Given the description of an element on the screen output the (x, y) to click on. 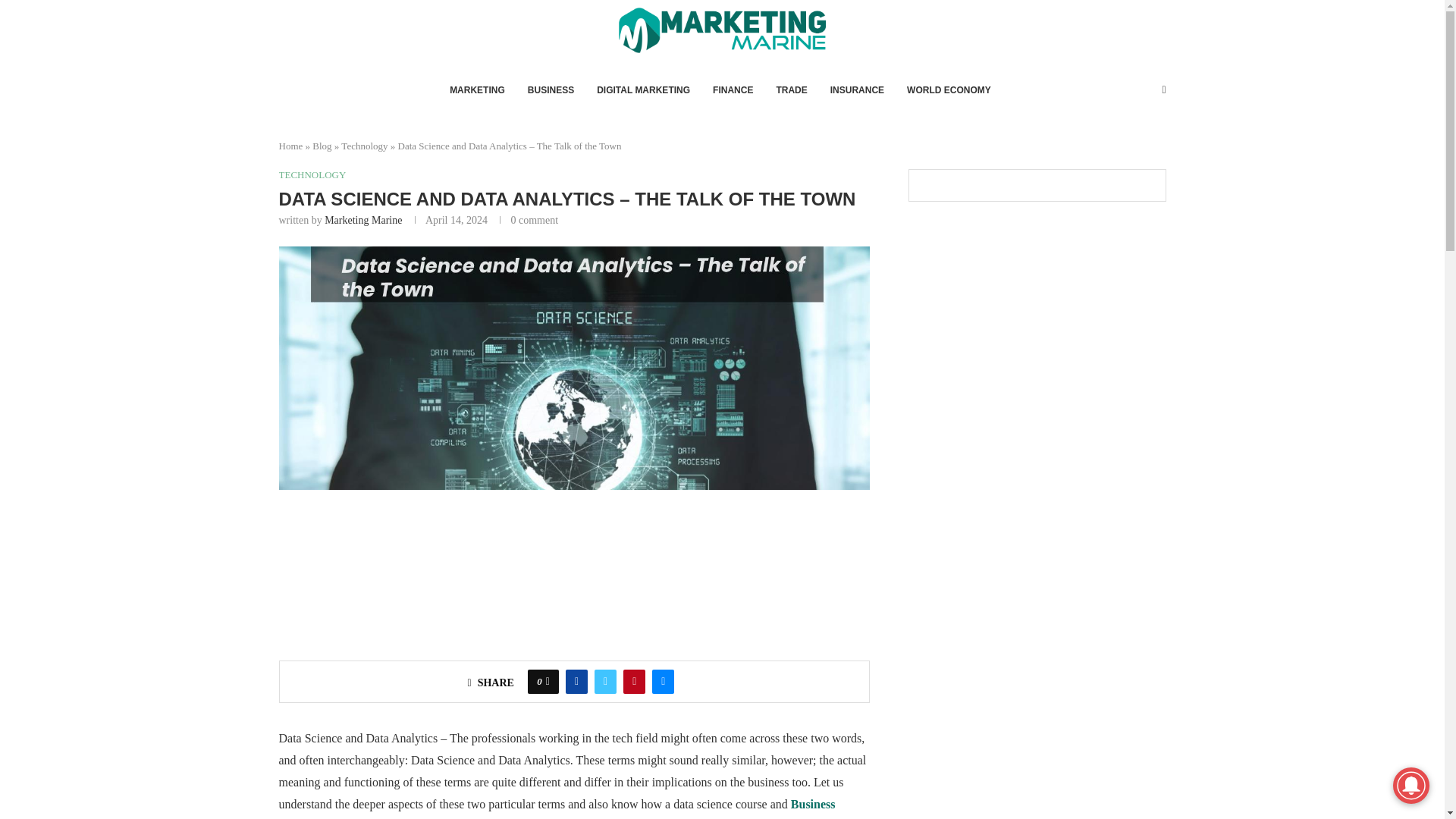
WORLD ECONOMY (949, 89)
MARKETING (477, 89)
FINANCE (732, 89)
INSURANCE (856, 89)
DIGITAL MARKETING (643, 89)
BUSINESS (550, 89)
